Given the description of an element on the screen output the (x, y) to click on. 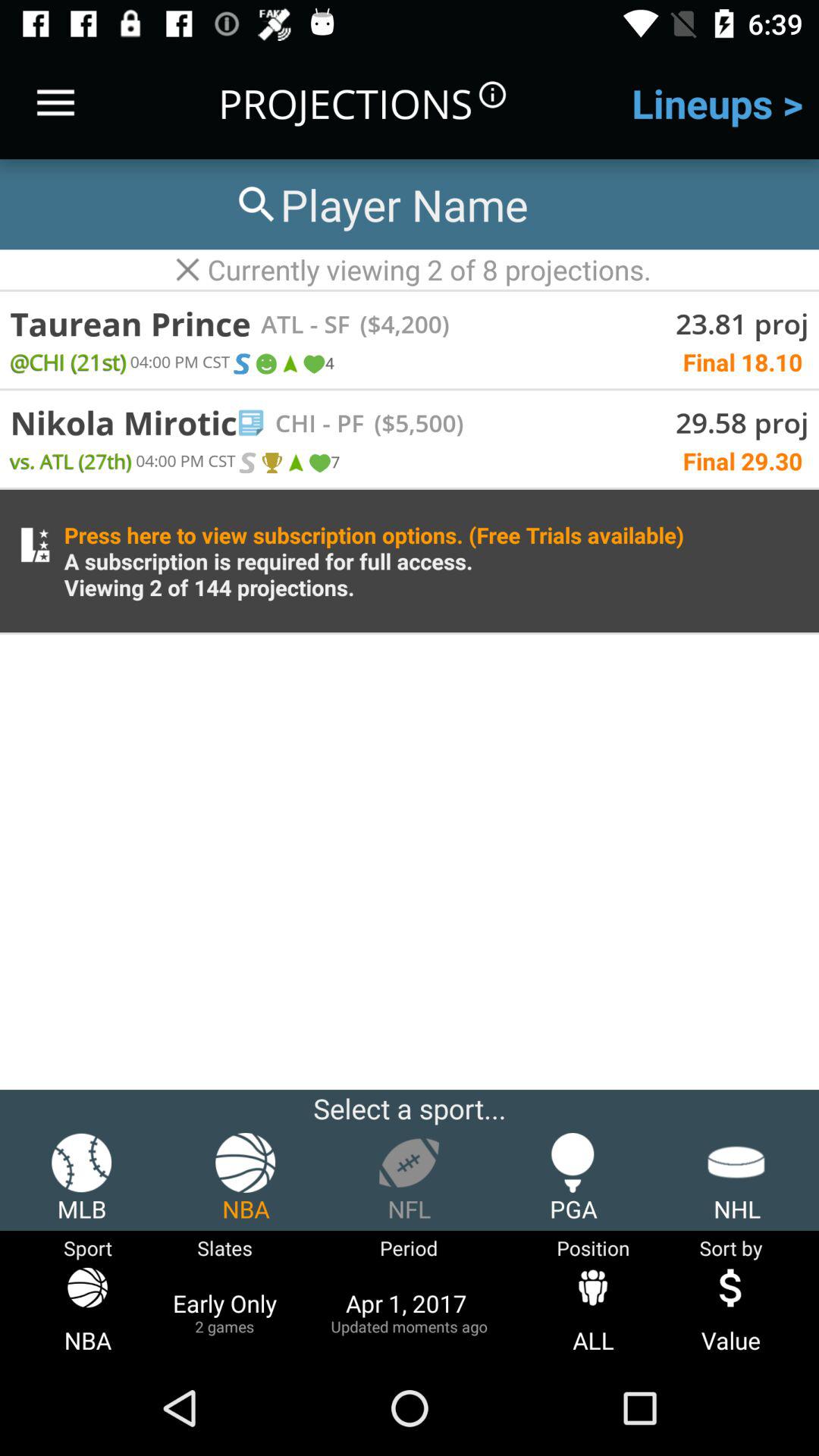
launch item to the right of the  - pf icon (413, 422)
